Given the description of an element on the screen output the (x, y) to click on. 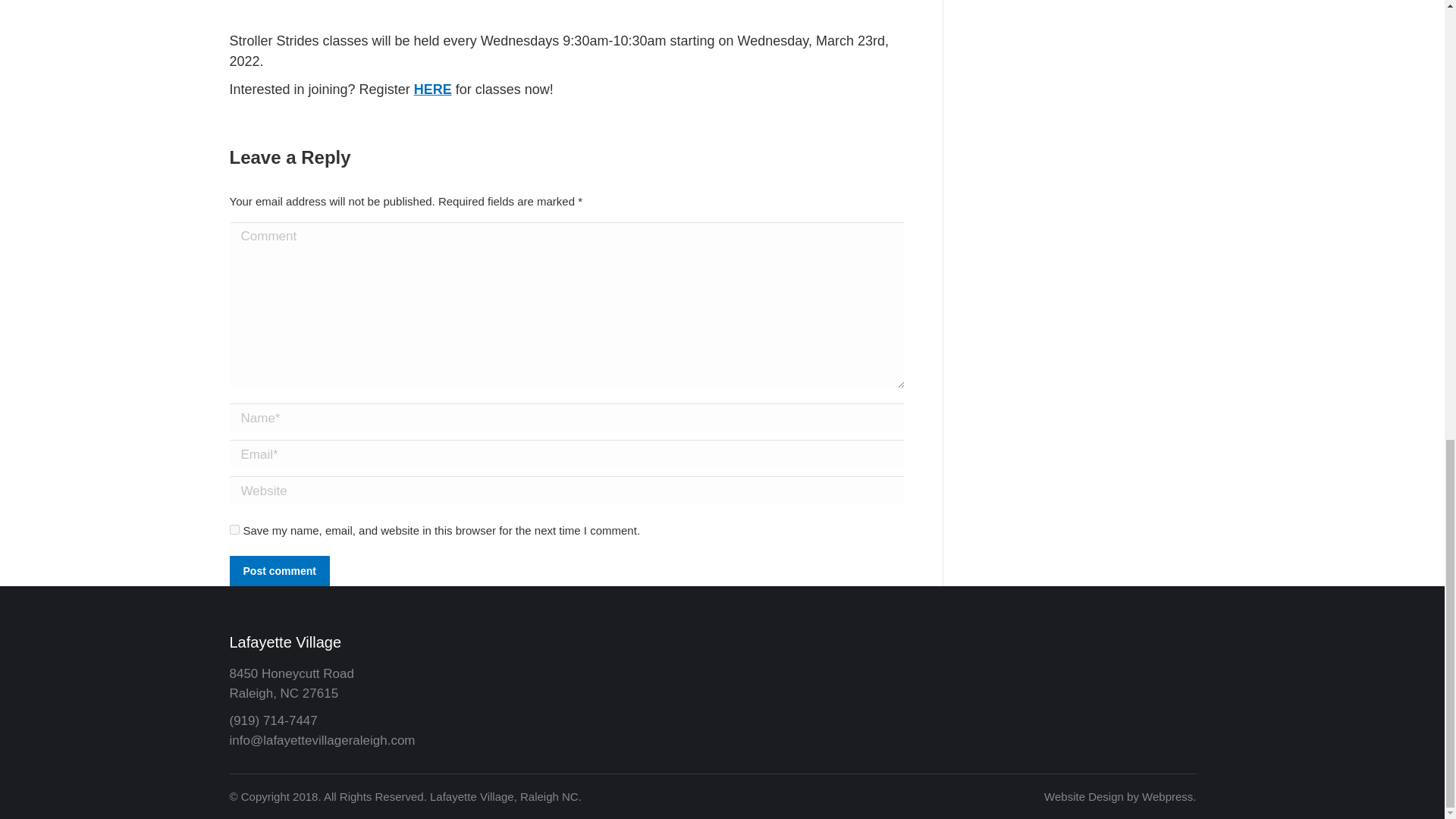
yes (233, 529)
